Given the description of an element on the screen output the (x, y) to click on. 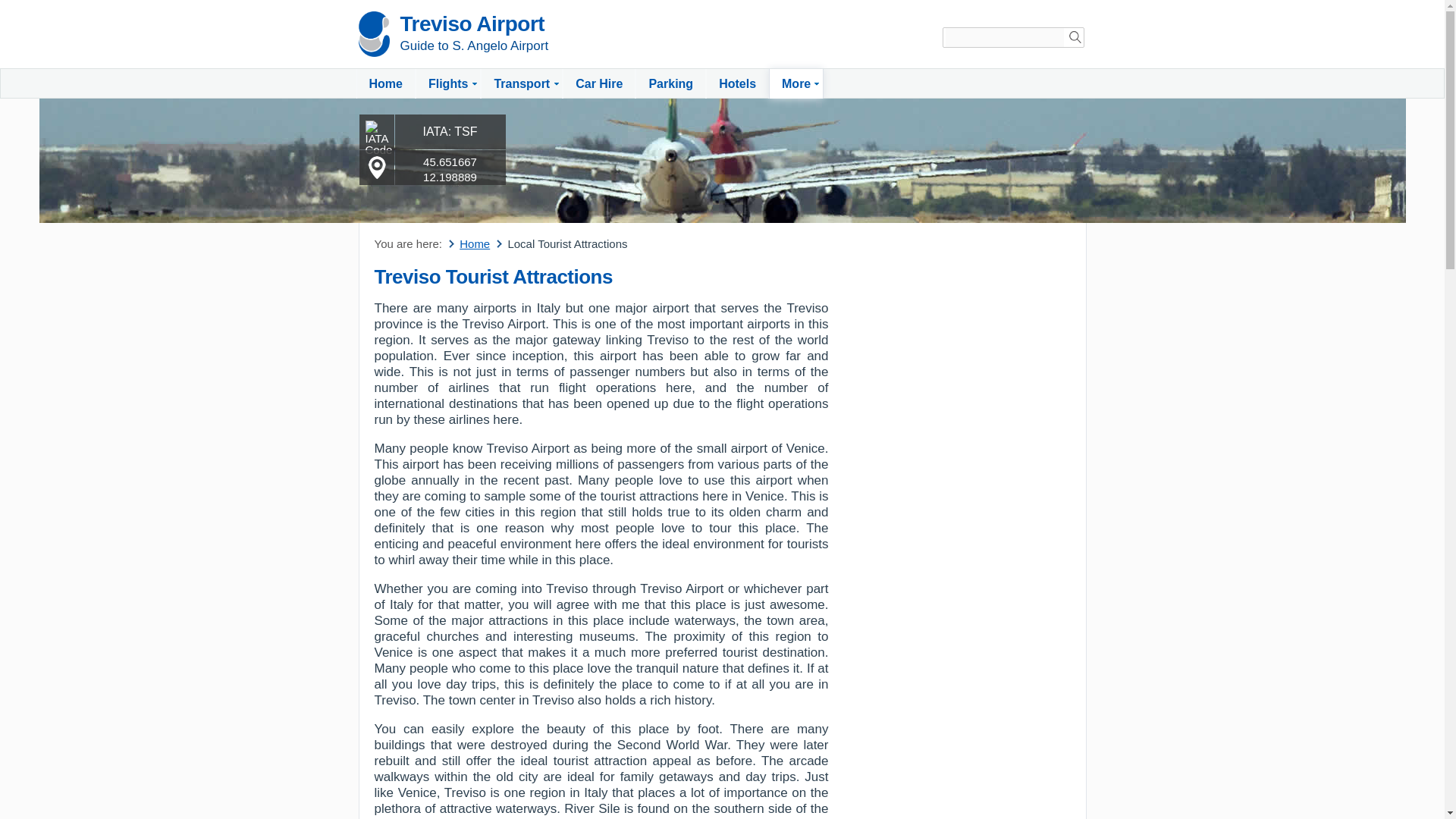
Car Hire (598, 83)
Hotels (737, 83)
Treviso Airport (472, 24)
Flights (447, 83)
Parking (670, 83)
Transport (521, 83)
Home (470, 243)
Home (385, 83)
More (796, 83)
